Given the description of an element on the screen output the (x, y) to click on. 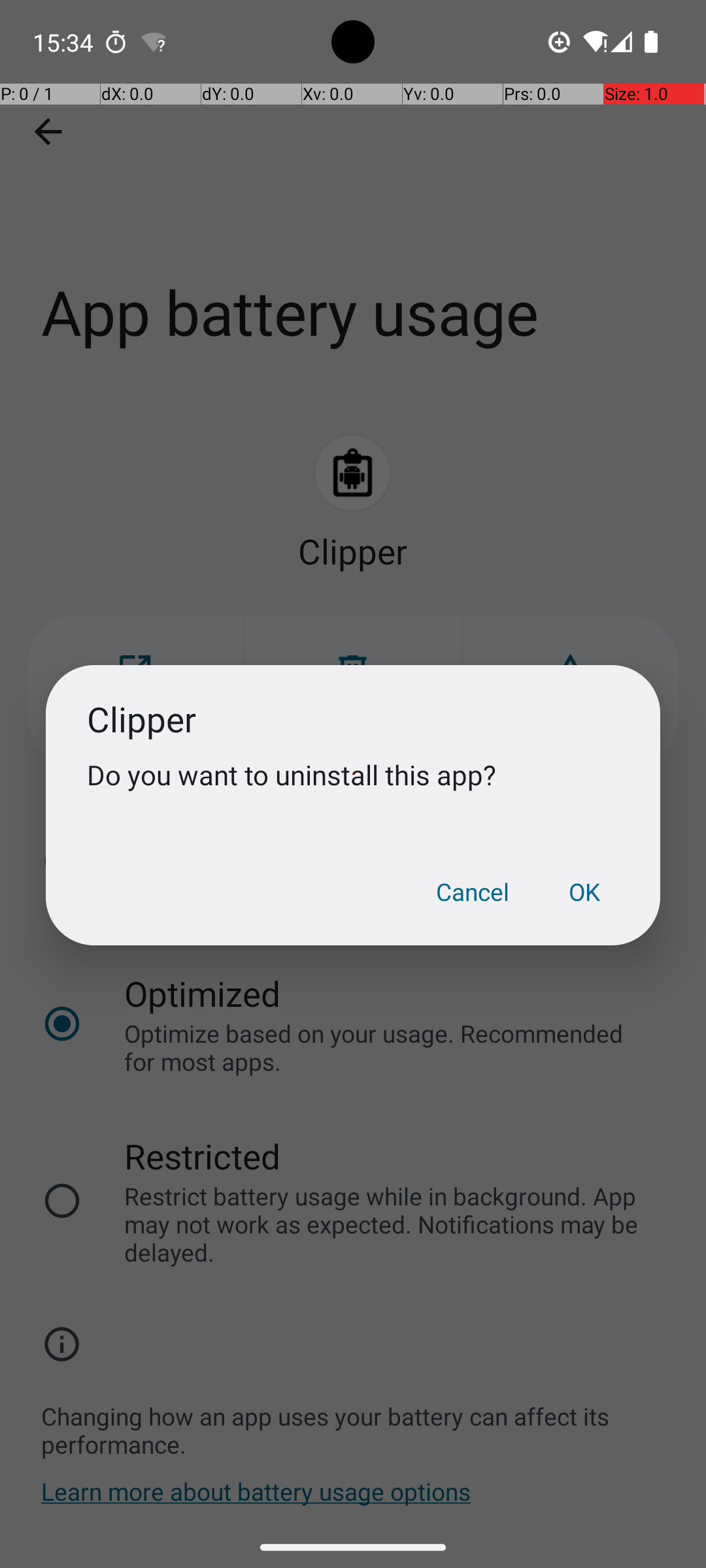
Do you want to uninstall this app? Element type: android.widget.TextView (352, 774)
